Given the description of an element on the screen output the (x, y) to click on. 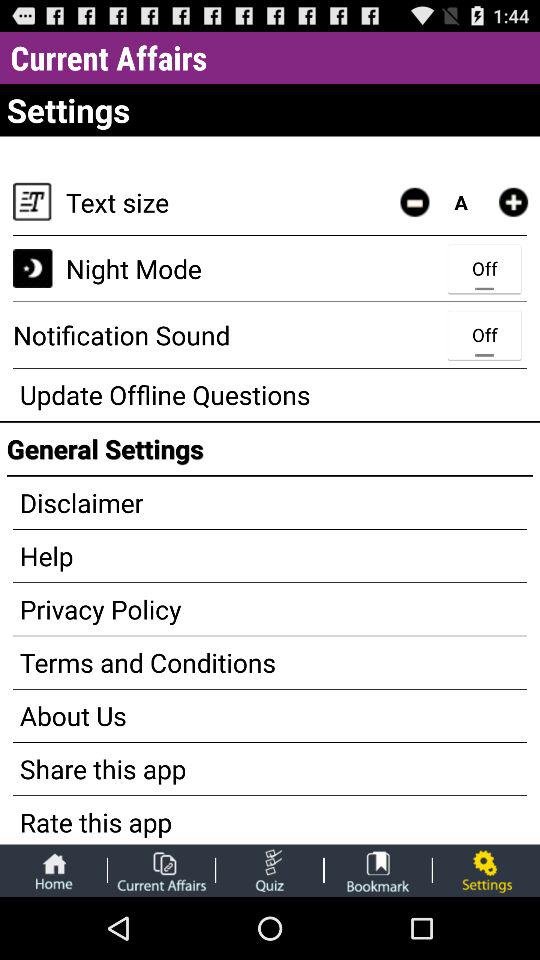
click the bookmark (378, 870)
